Given the description of an element on the screen output the (x, y) to click on. 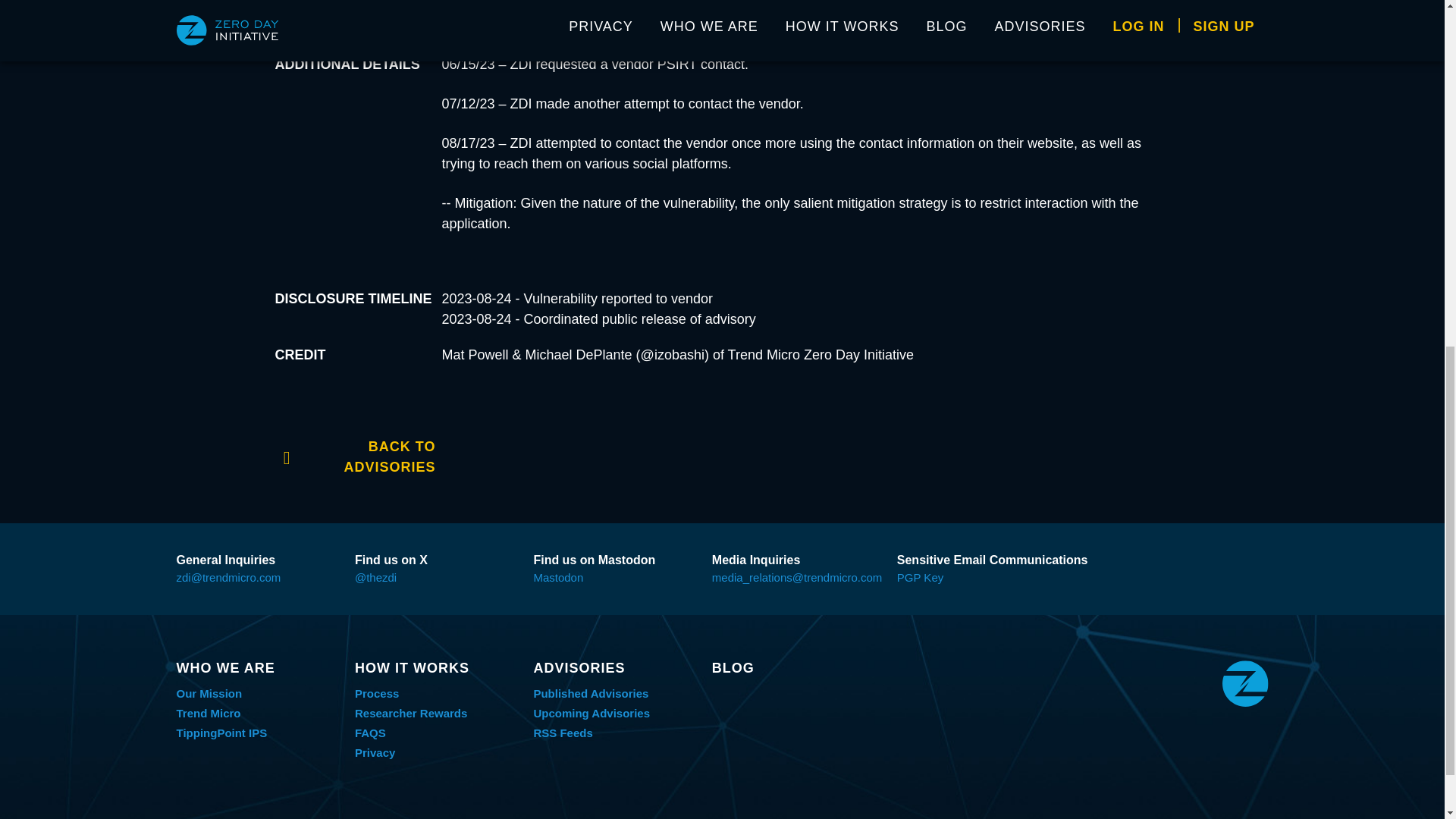
Researcher Rewards (411, 712)
WHO WE ARE (257, 668)
RSS Feeds (562, 732)
ADVISORIES (614, 668)
Trend Micro (208, 712)
Our Mission (208, 693)
HOW IT WORKS (436, 668)
Upcoming Advisories (590, 712)
FAQS (370, 732)
Privacy (374, 752)
